Given the description of an element on the screen output the (x, y) to click on. 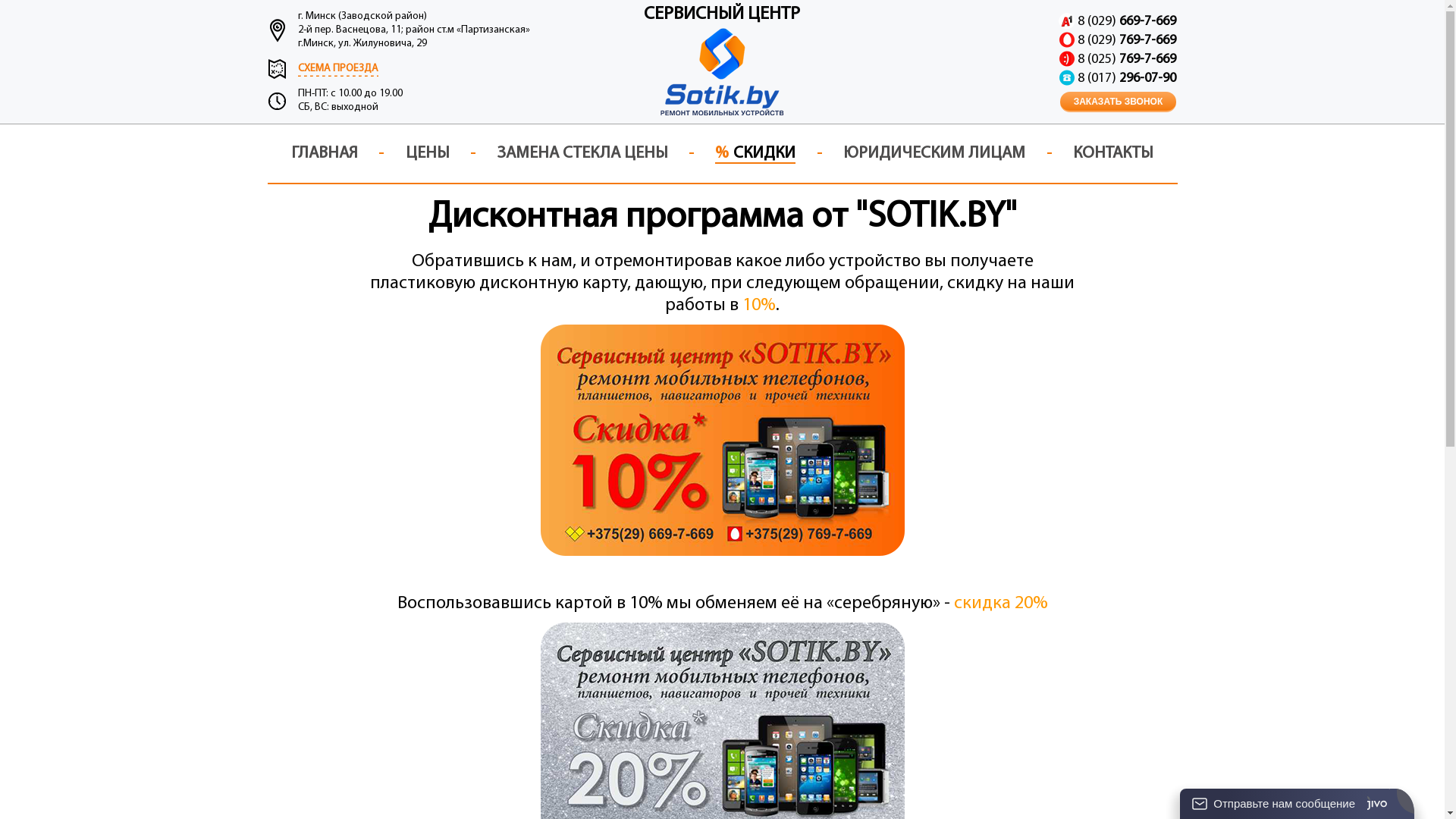
8 (029) 669-7-669 Element type: text (1126, 20)
8 (017) 296-07-90 Element type: text (1126, 78)
8 (029) 769-7-669 Element type: text (1126, 40)
8 (025) 769-7-669 Element type: text (1126, 58)
